Given the description of an element on the screen output the (x, y) to click on. 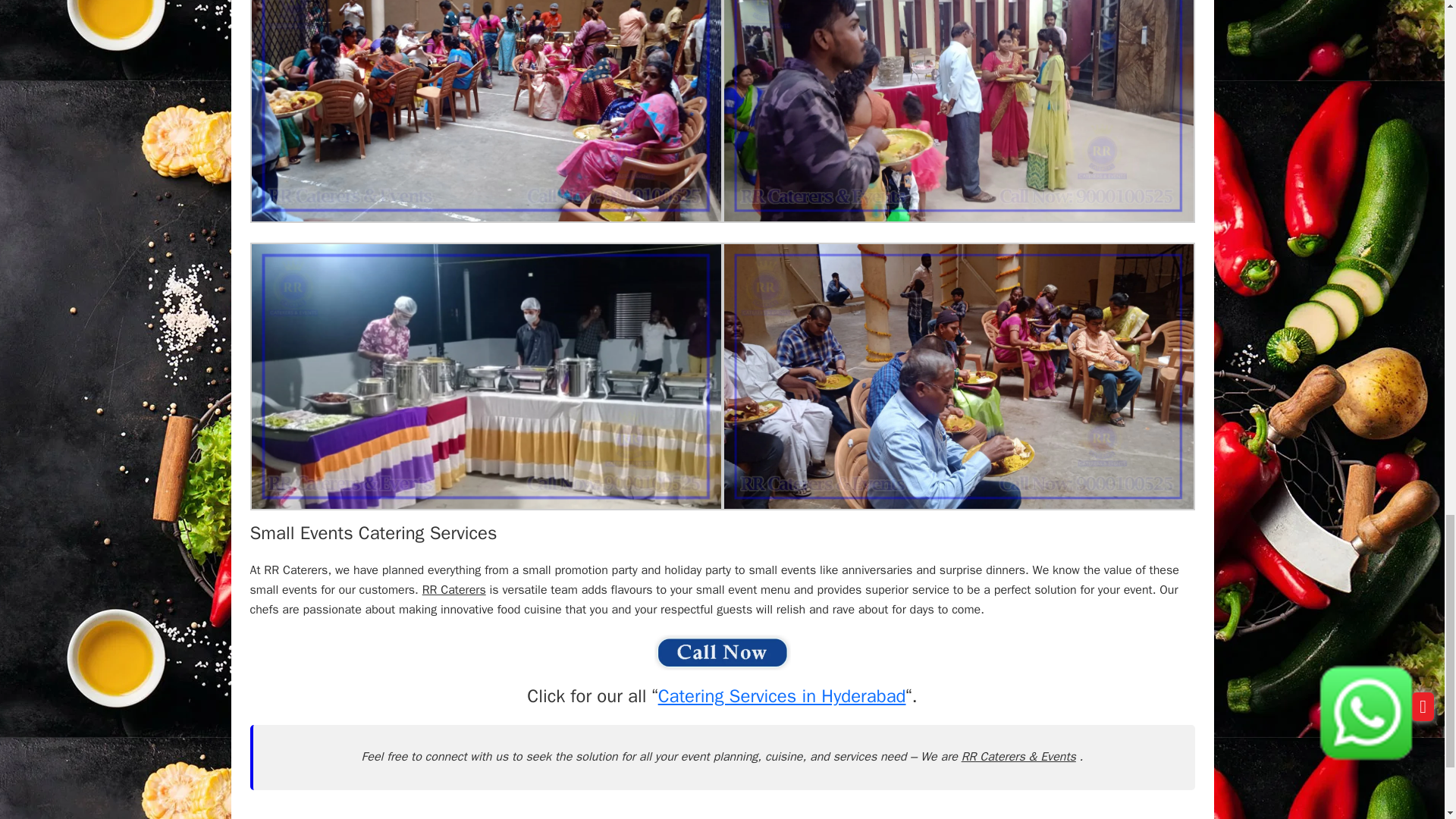
RR Caterers (454, 589)
Catering Services in Hyderabad (781, 695)
